Given the description of an element on the screen output the (x, y) to click on. 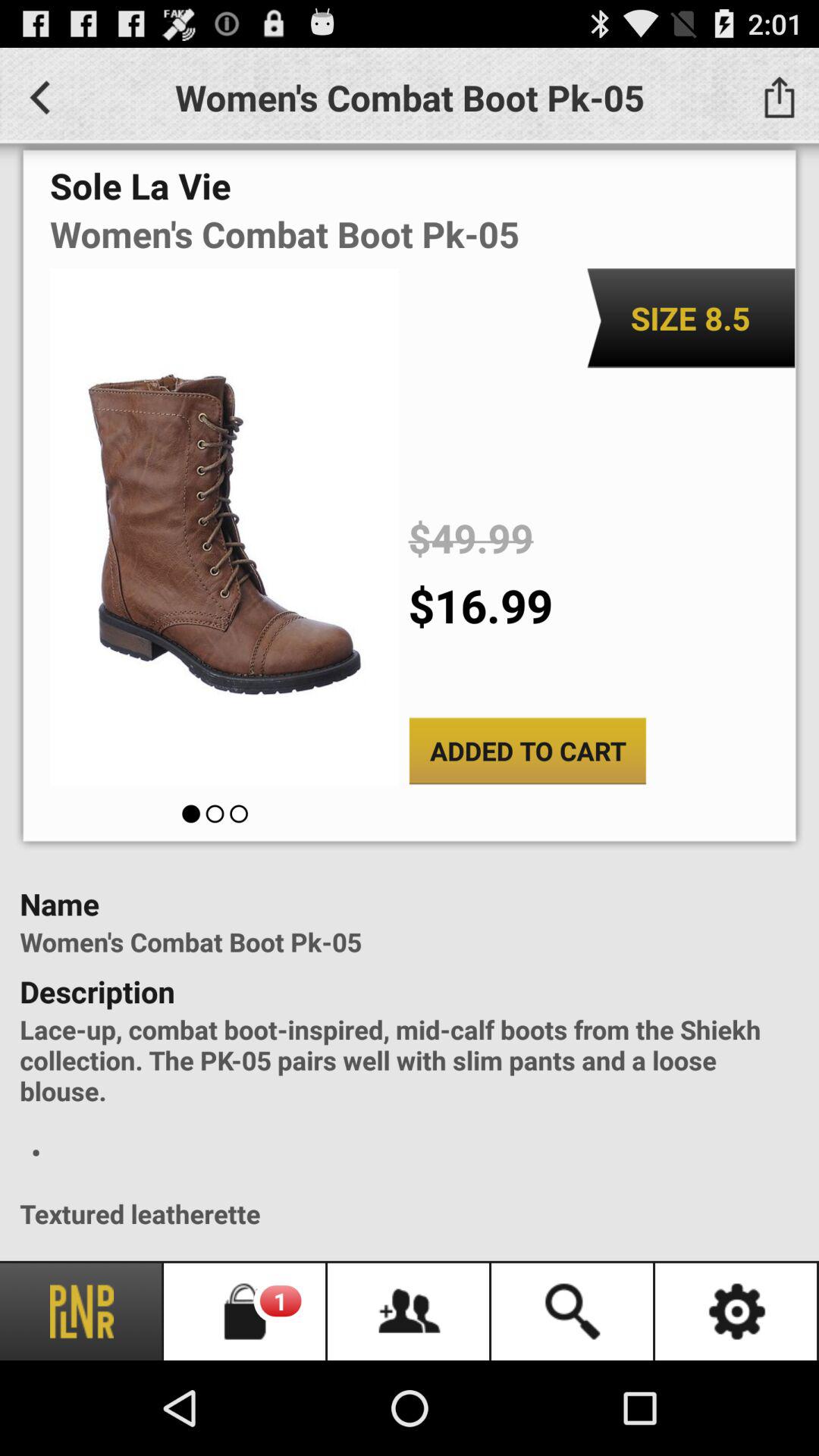
tap the icon above $49.99 (690, 317)
